Given the description of an element on the screen output the (x, y) to click on. 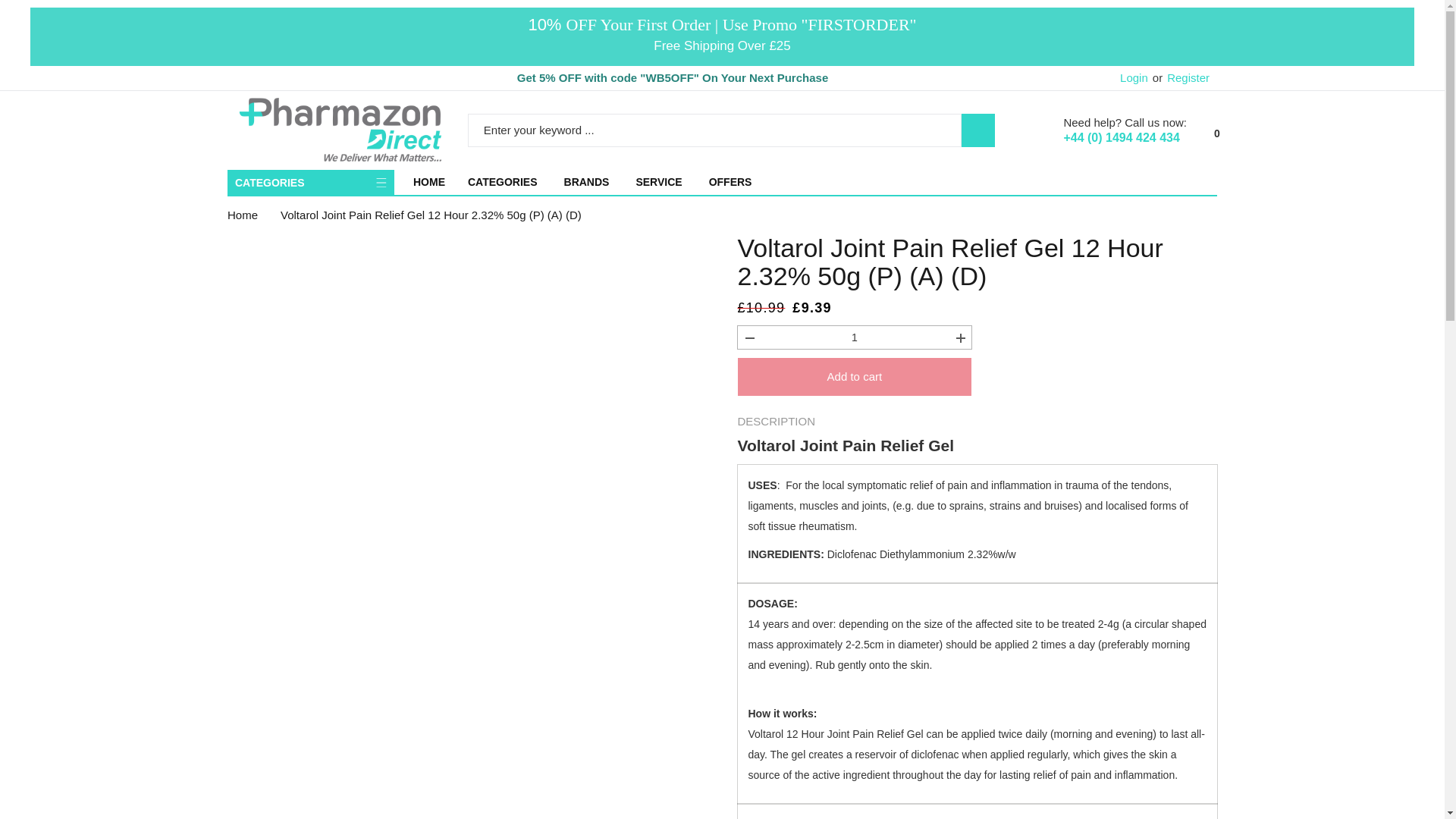
Back to the frontpage (242, 214)
Login (1134, 78)
orRegister (1180, 78)
1 (854, 336)
